Given the description of an element on the screen output the (x, y) to click on. 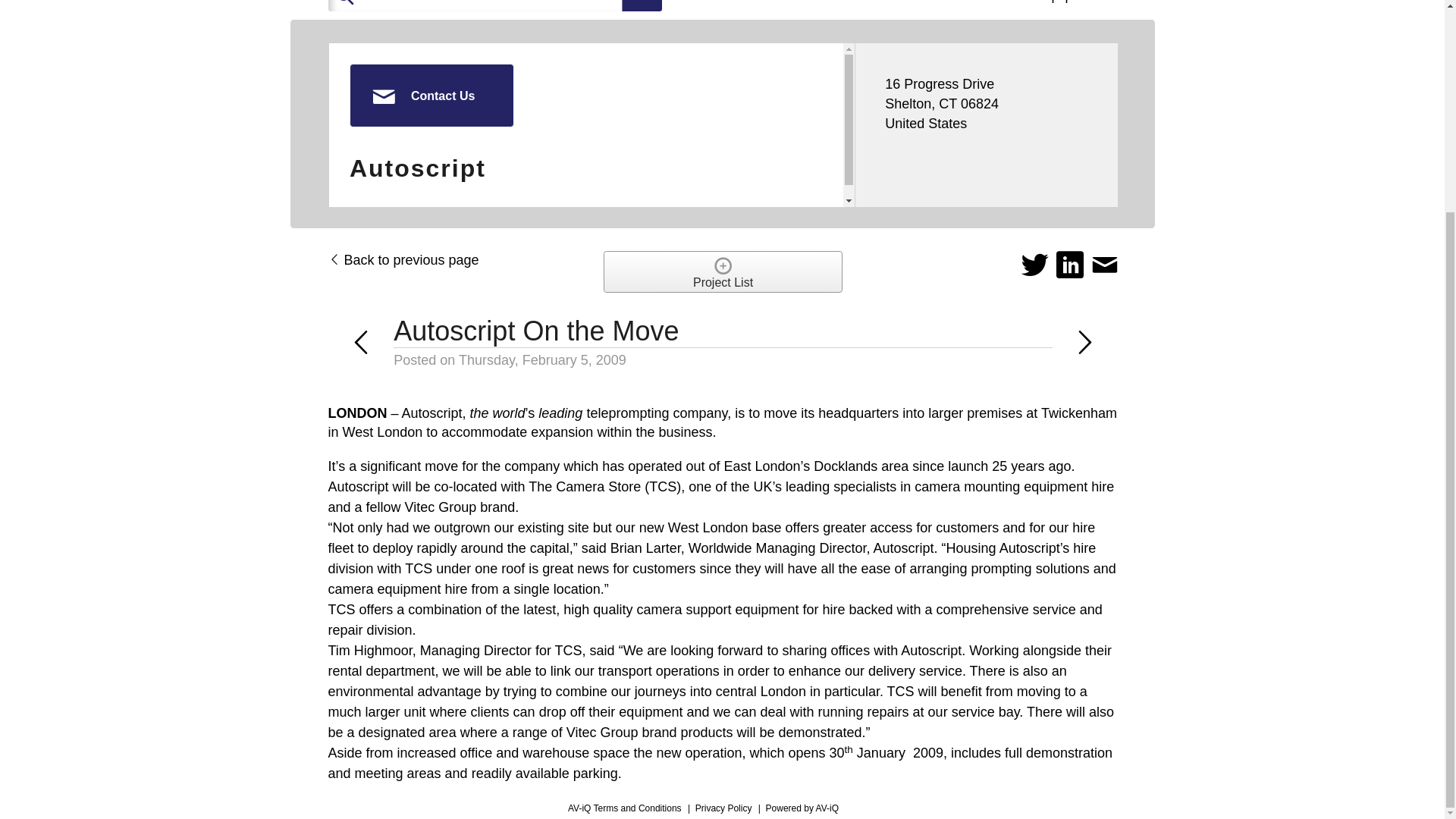
Enter search words... (531, 5)
Go (641, 5)
Go (641, 5)
